Given the description of an element on the screen output the (x, y) to click on. 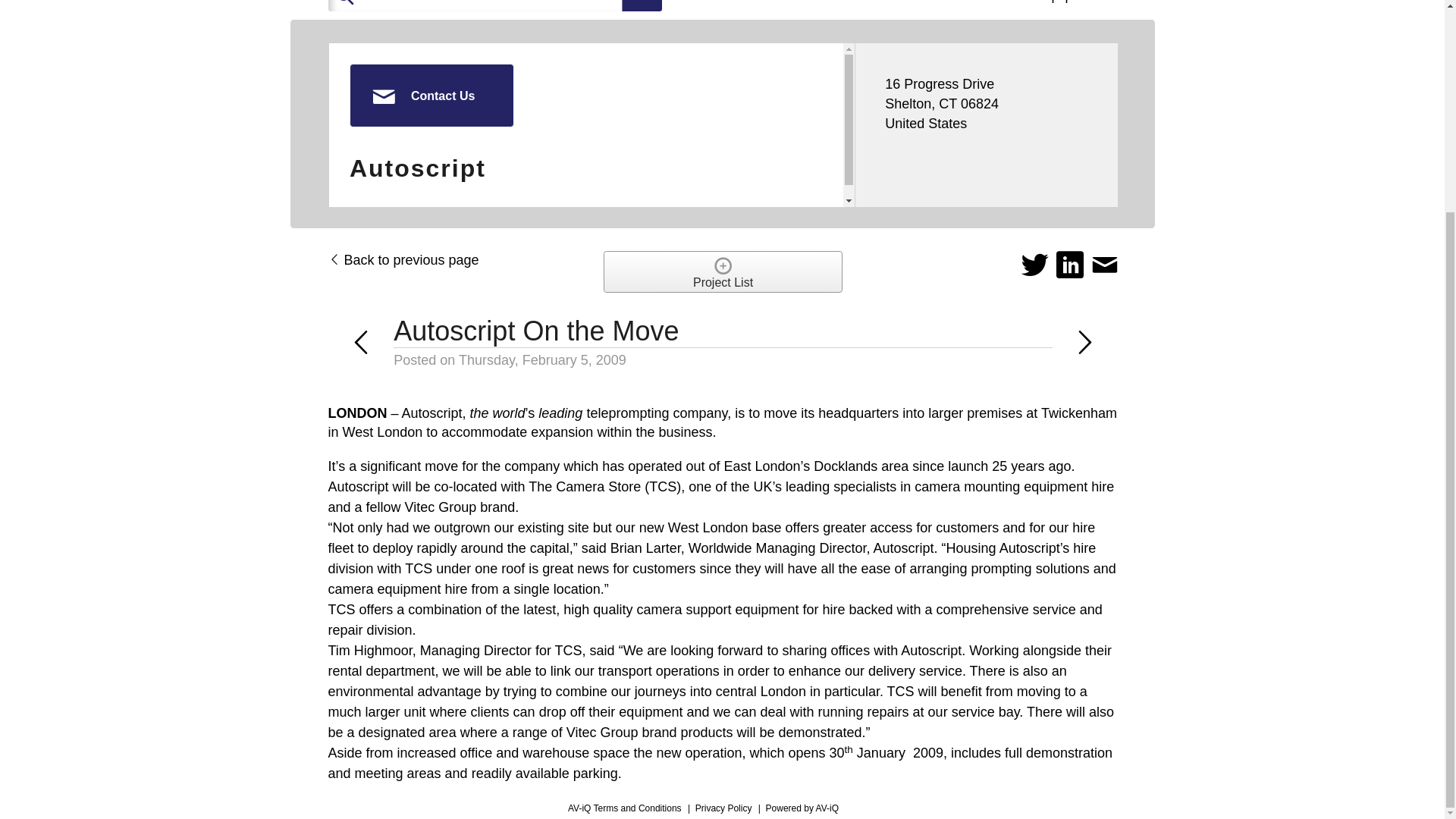
Enter search words... (531, 5)
Go (641, 5)
Go (641, 5)
